Given the description of an element on the screen output the (x, y) to click on. 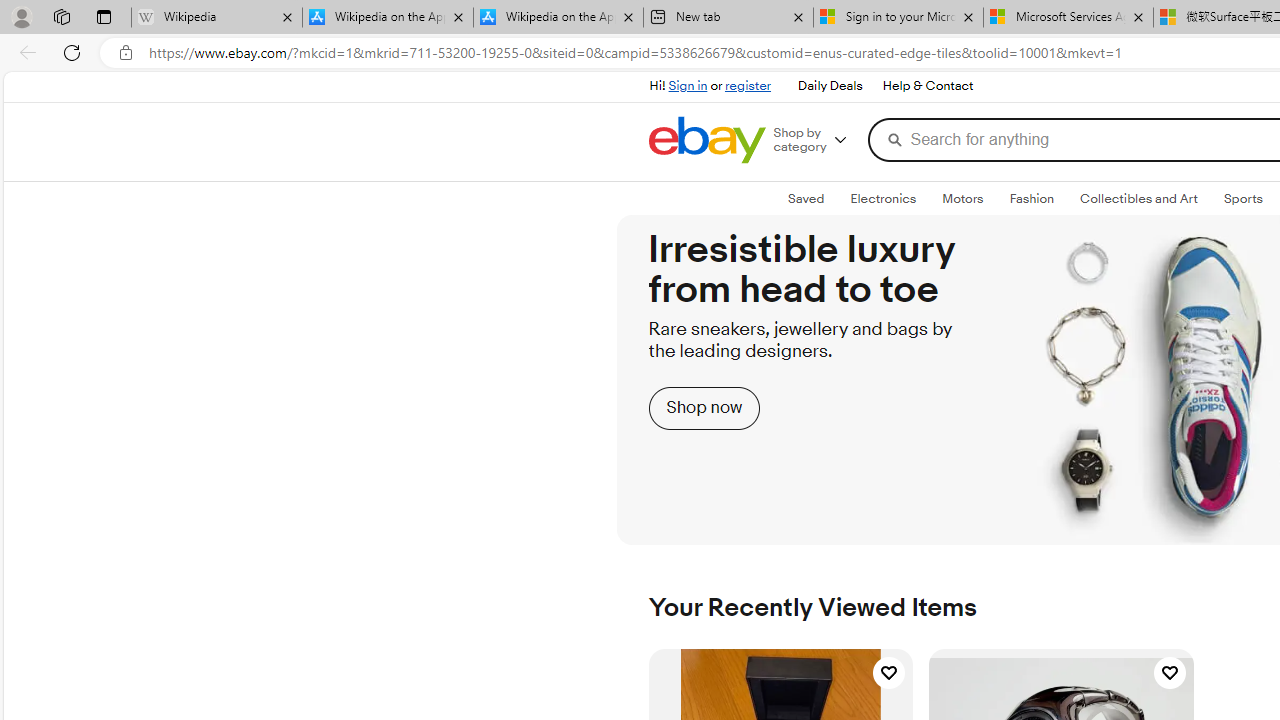
Collectibles and Art (1139, 198)
Fashion (1031, 198)
eBay Home (706, 139)
Electronics (882, 198)
FashionExpand: Fashion (1031, 199)
Sign in (687, 85)
Daily Deals (829, 86)
